Given the description of an element on the screen output the (x, y) to click on. 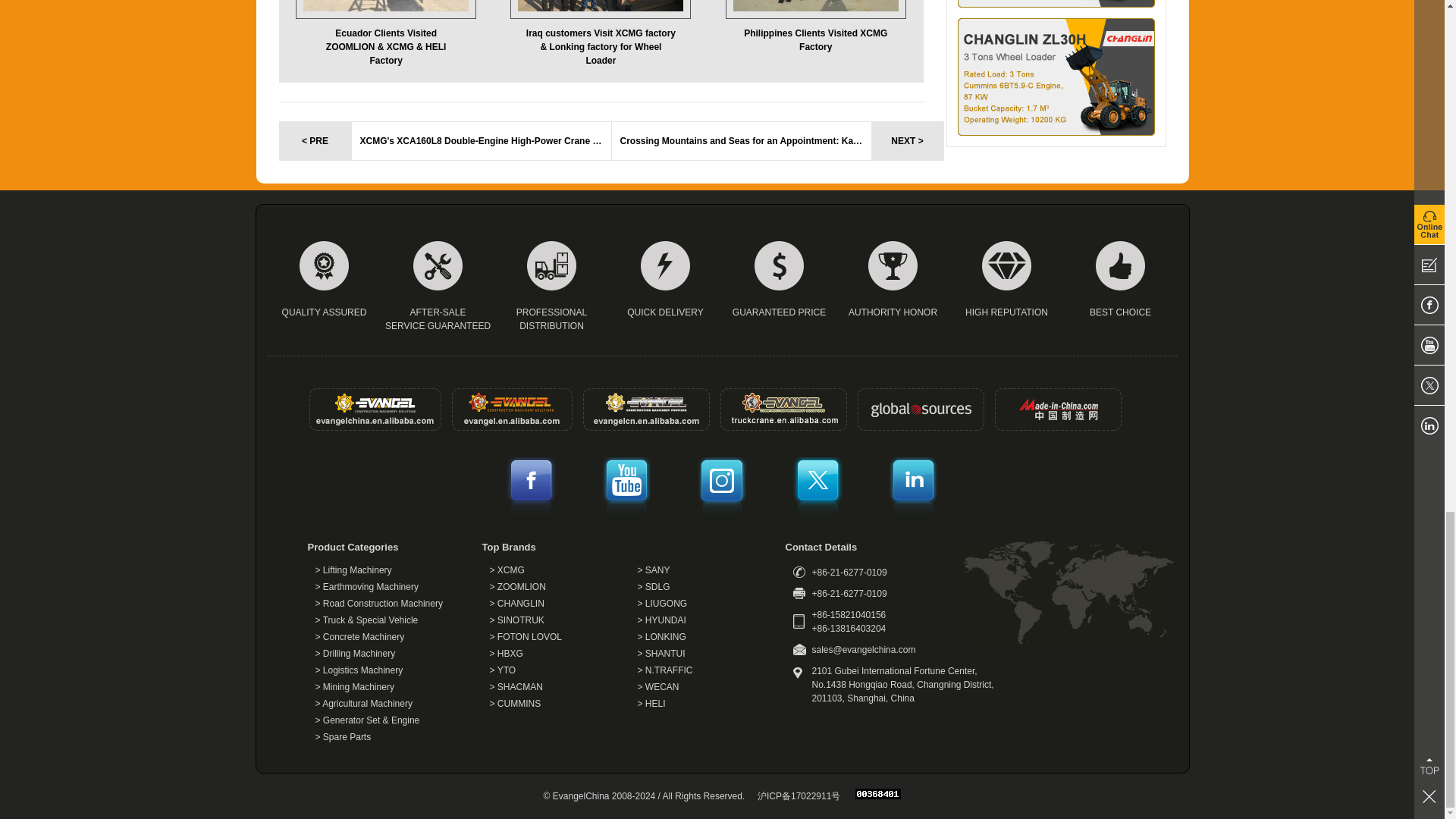
CHANGLIN ZL30H (1055, 76)
SHANTUI SD16L (1055, 3)
Philippines Clients Visited XCMG Factory (815, 25)
